Given the description of an element on the screen output the (x, y) to click on. 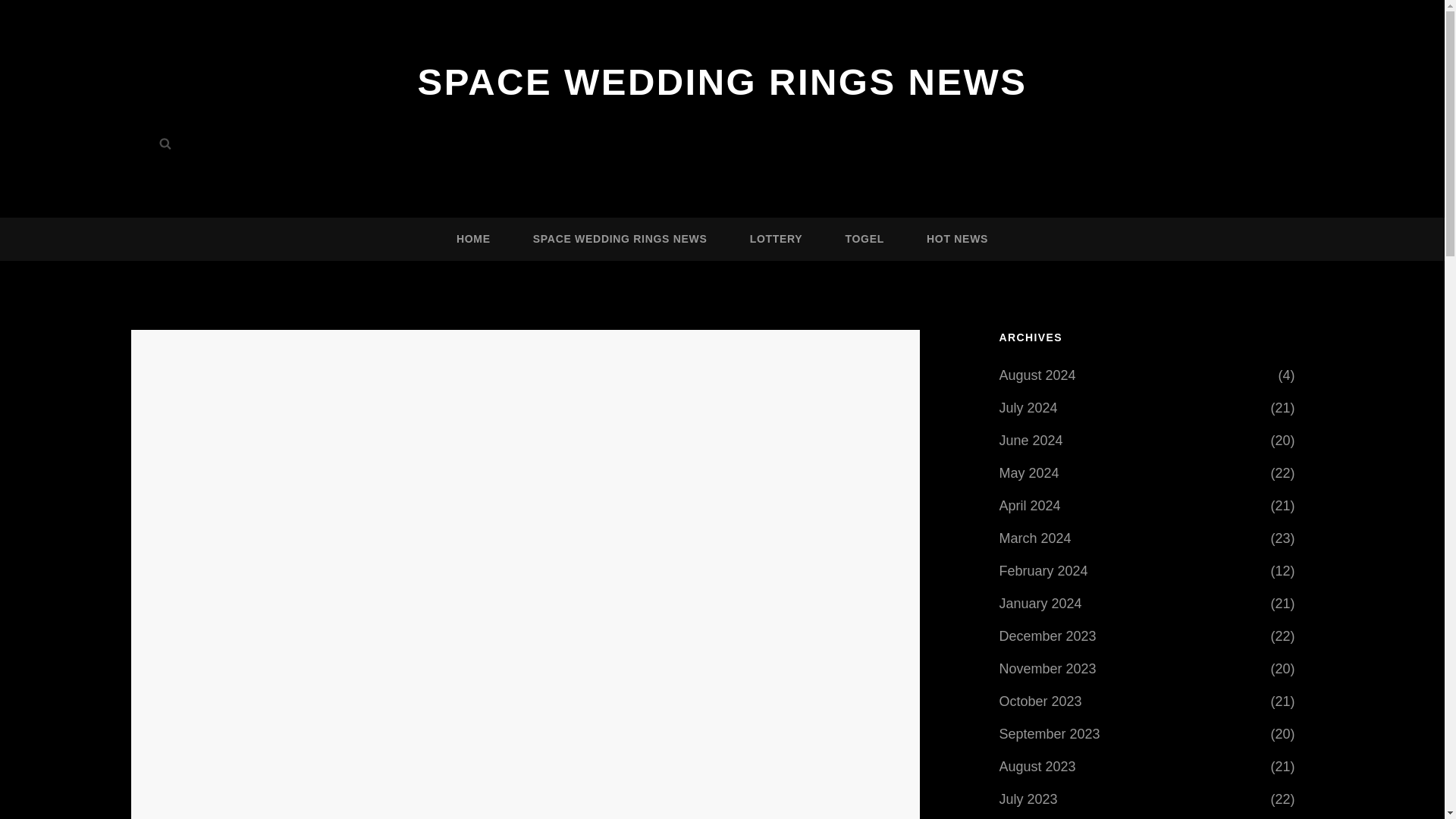
December 2023 (1047, 636)
November 2023 (1047, 668)
TOGEL (863, 239)
SPACE WEDDING RINGS NEWS (619, 239)
March 2024 (1034, 538)
HOT NEWS (957, 239)
May 2024 (1028, 472)
July 2024 (1028, 407)
Search (164, 142)
September 2023 (1049, 733)
February 2024 (1042, 570)
June 2023 (1030, 818)
HOME (473, 239)
October 2023 (1039, 700)
August 2024 (1036, 375)
